Given the description of an element on the screen output the (x, y) to click on. 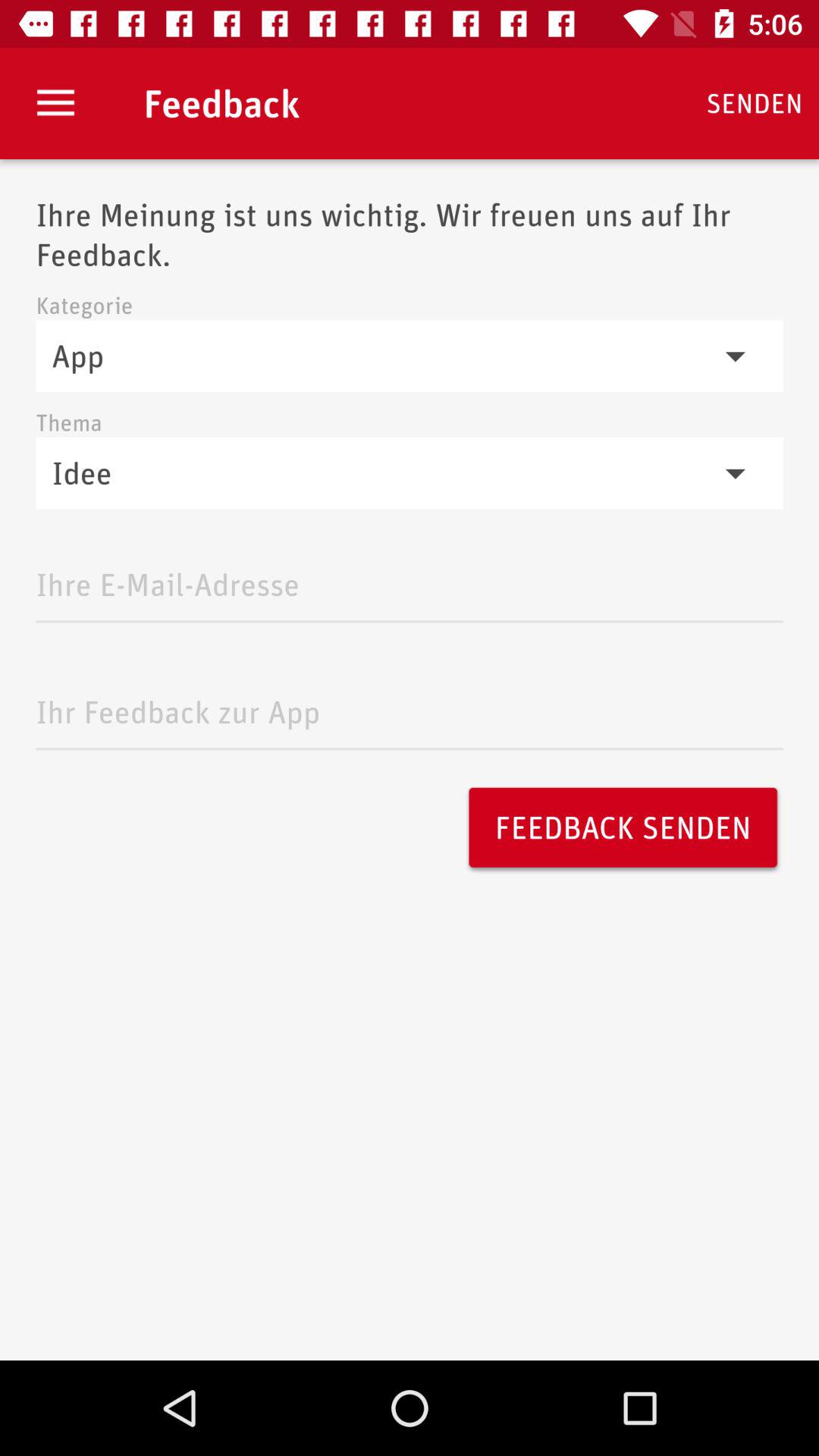
comment box for feedback (409, 707)
